Given the description of an element on the screen output the (x, y) to click on. 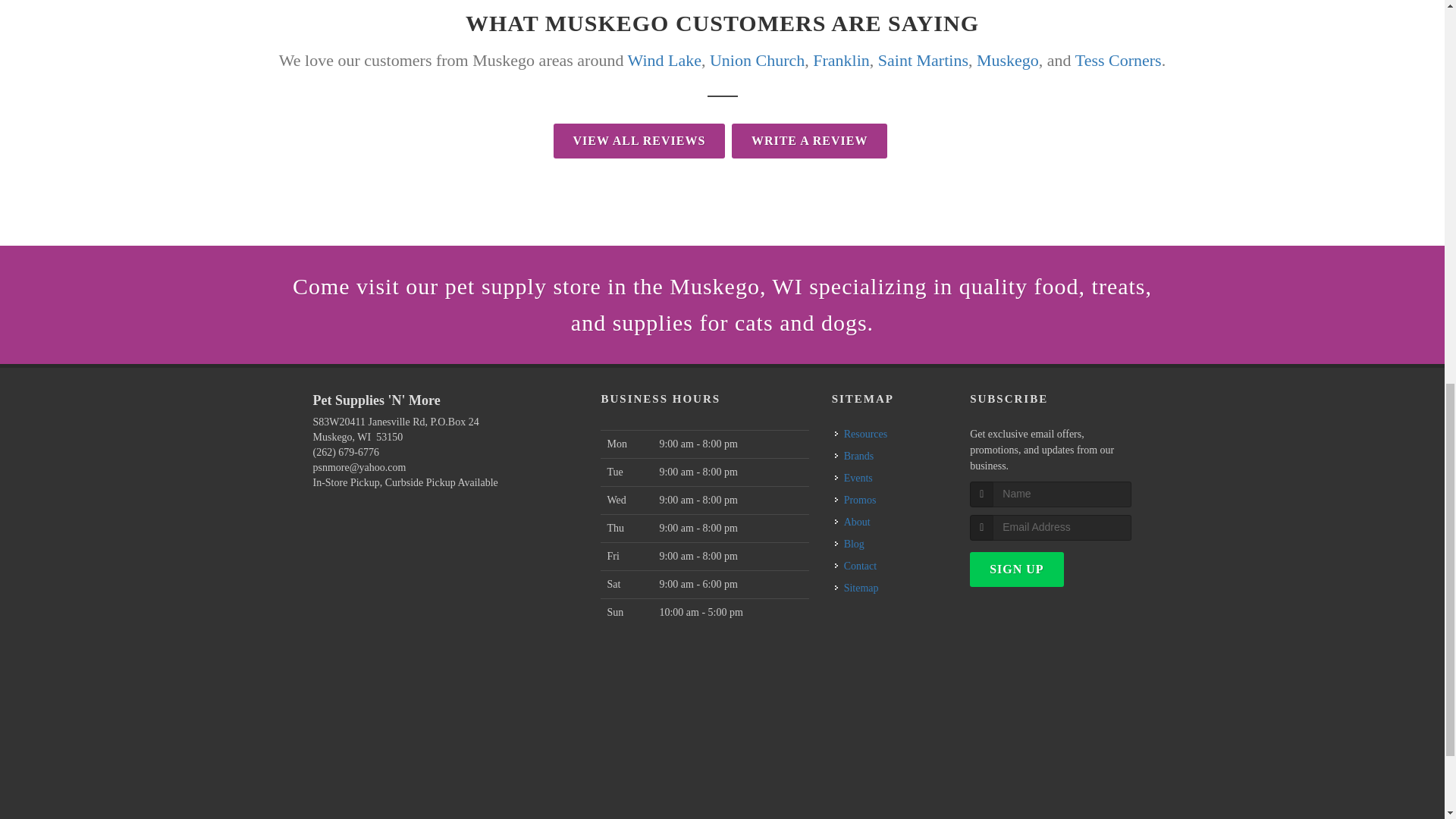
Wind Lake (664, 59)
